Given the description of an element on the screen output the (x, y) to click on. 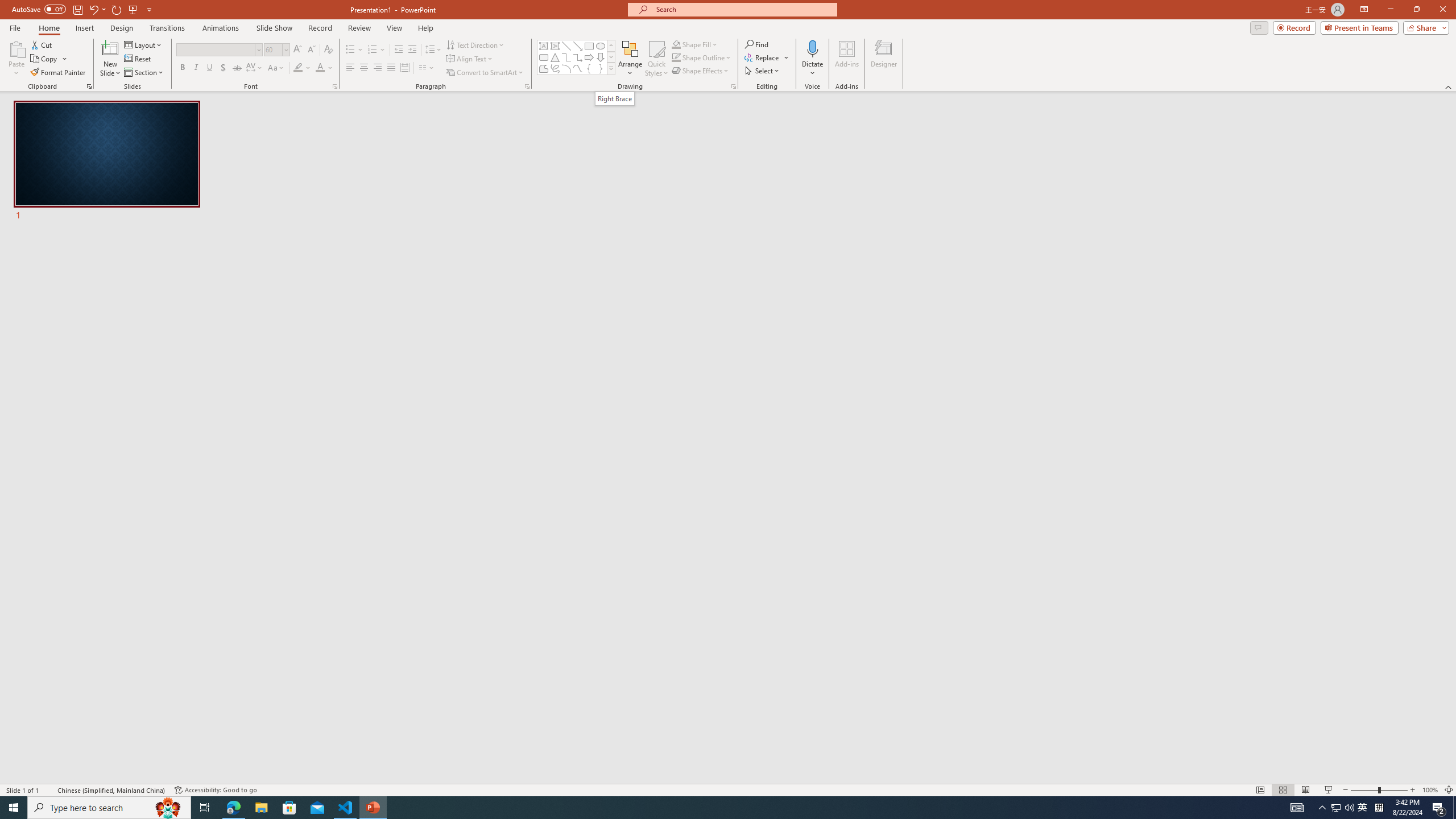
Shape Fill Orange, Accent 2 (675, 44)
Arrange (630, 58)
Bold (182, 67)
Office Clipboard... (88, 85)
